Given the description of an element on the screen output the (x, y) to click on. 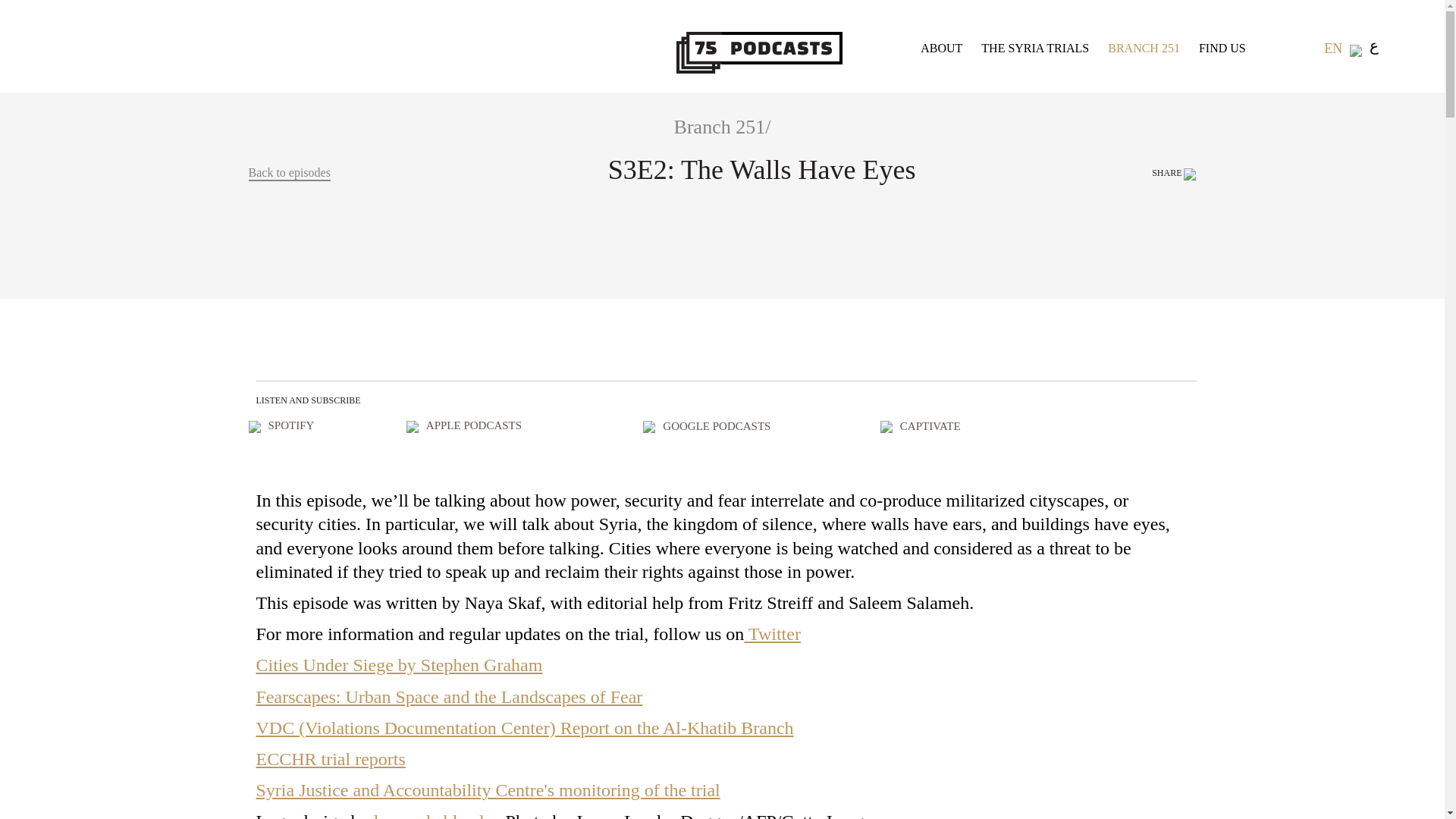
Twitter (772, 633)
BRANCH 251 (1143, 47)
FIND US (1222, 47)
Find Us (1222, 47)
Home (781, 47)
ABOUT (941, 47)
Home (699, 51)
Fearscapes: Urban Space and the Landscapes of Fear (449, 696)
About Us (941, 47)
laurenshebly.nl (426, 815)
The Syria Trials (1035, 47)
THE SYRIA TRIALS (1035, 47)
Back to episodes (289, 172)
Cities Under Siege by Stephen Graham (399, 664)
Branch 251 (1143, 47)
